Given the description of an element on the screen output the (x, y) to click on. 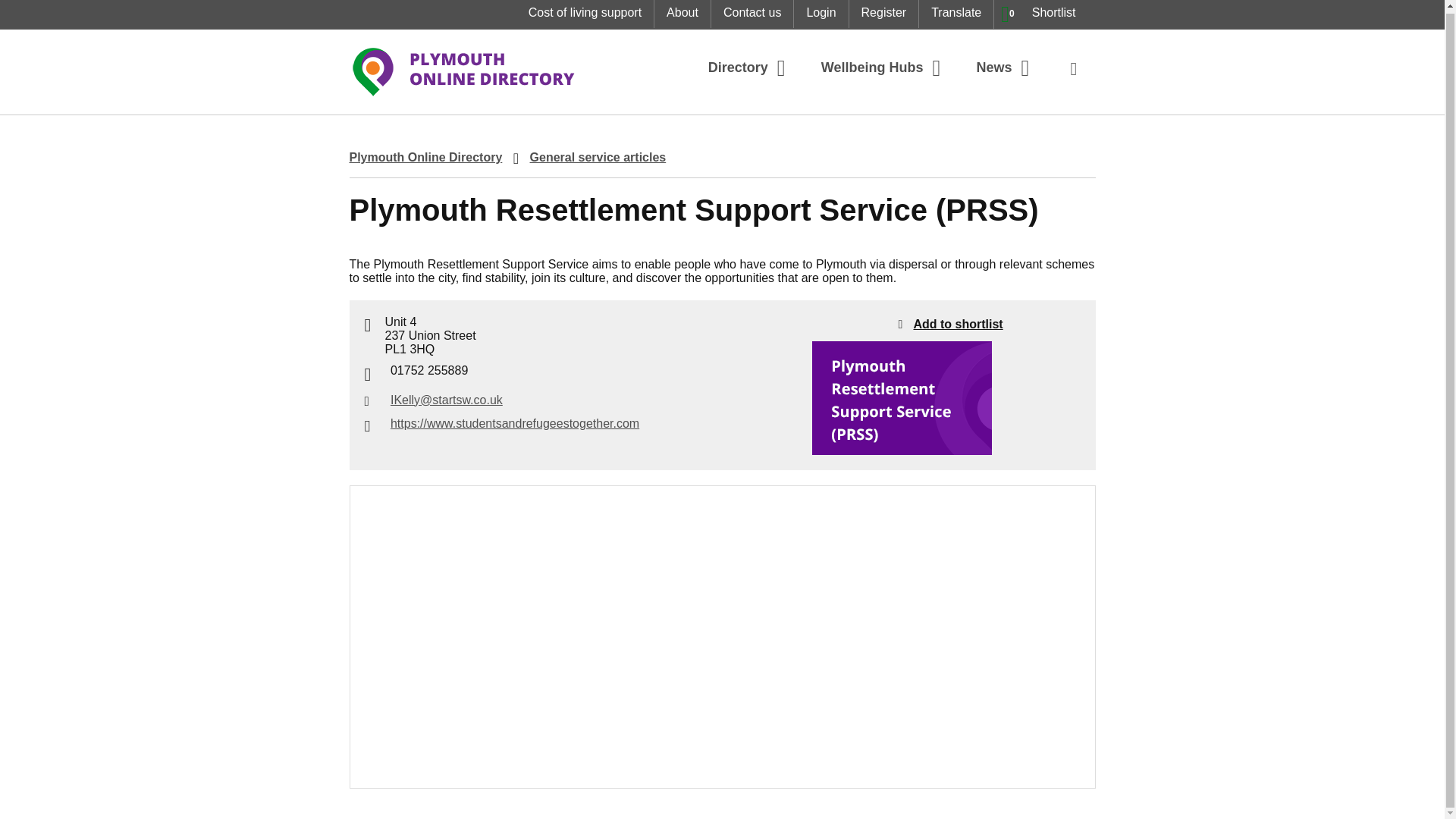
Skip to main content (1039, 14)
Contact us (11, 9)
Cost of living support (752, 13)
About (584, 13)
Directory (681, 13)
Login (749, 67)
Register (820, 13)
Translate (883, 13)
Opens in a new window (955, 13)
